Given the description of an element on the screen output the (x, y) to click on. 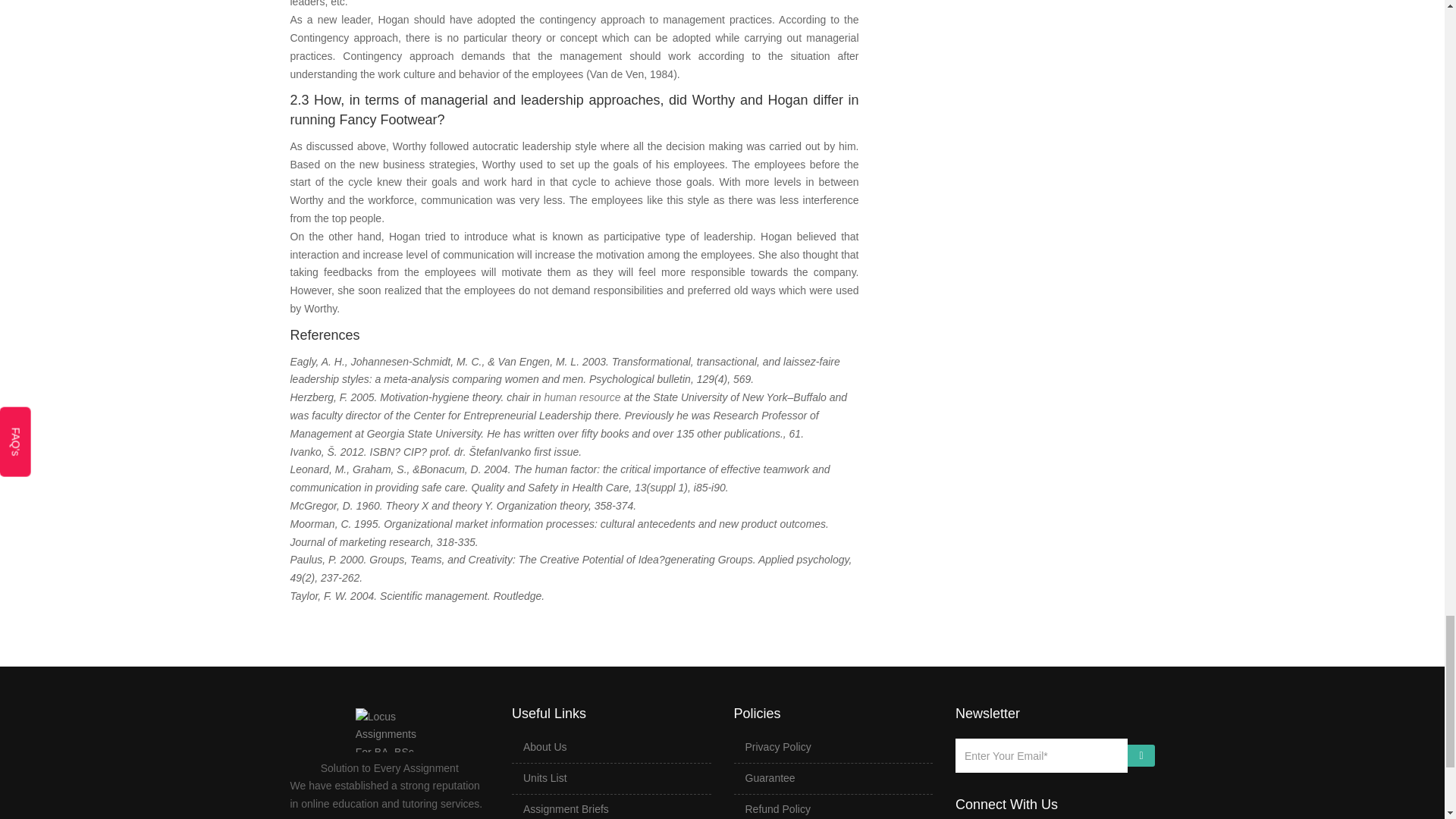
About Us (544, 746)
human resource (581, 397)
Assignments (565, 808)
Units (544, 777)
